Given the description of an element on the screen output the (x, y) to click on. 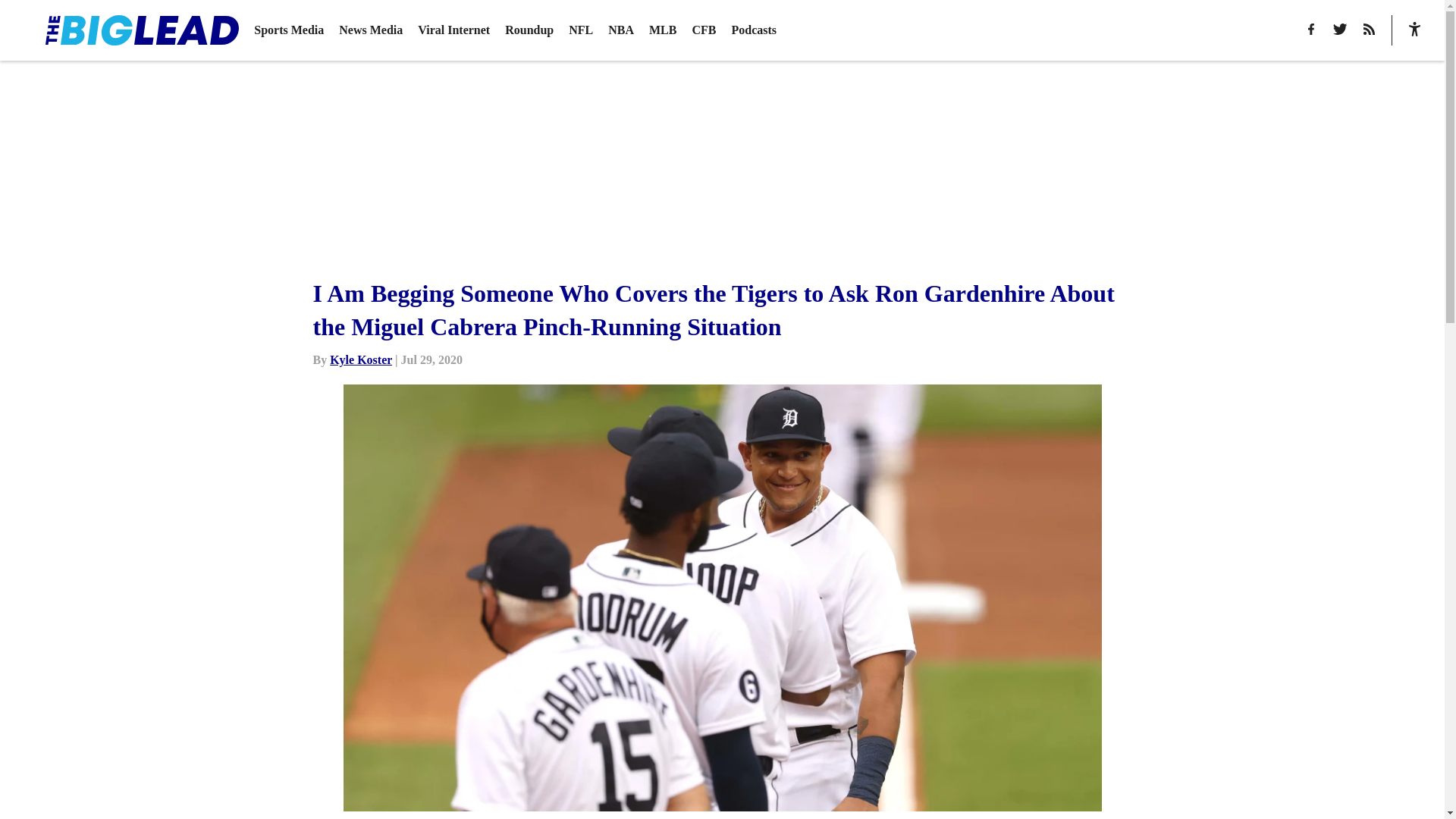
Podcasts (753, 30)
CFB (703, 30)
NFL (580, 30)
Kyle Koster (360, 359)
Roundup (529, 30)
MLB (663, 30)
News Media (371, 30)
NBA (620, 30)
Sports Media (288, 30)
Viral Internet (453, 30)
